Given the description of an element on the screen output the (x, y) to click on. 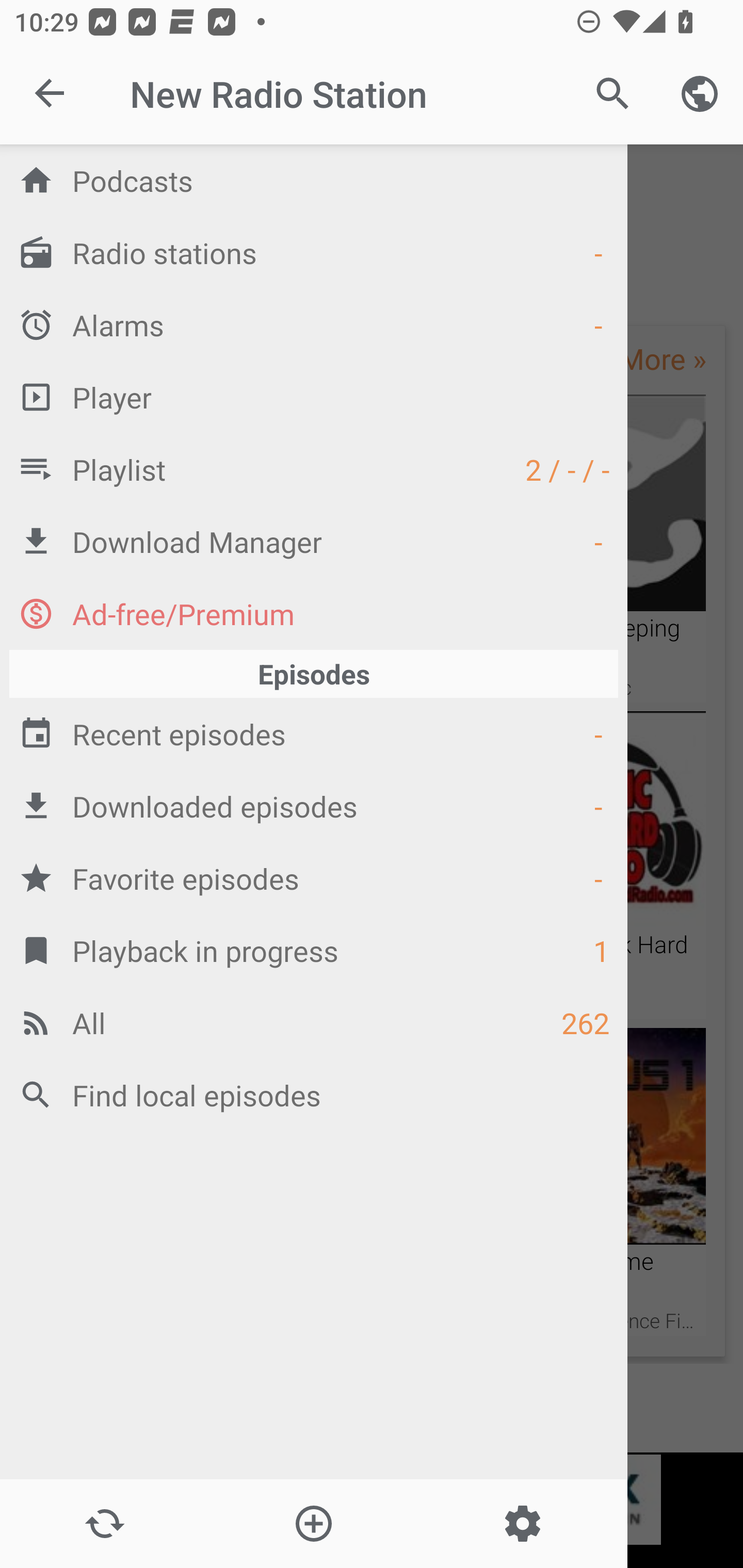
Close navigation sidebar (50, 93)
Search (612, 93)
Podcast languages (699, 93)
Podcasts (313, 180)
Radio stations  -  (313, 252)
Alarms  -  (313, 324)
Player (313, 396)
Playlist 2 / - / - (313, 468)
Download Manager  -  (313, 540)
Ad-free/Premium (313, 613)
Recent episodes  -  (313, 733)
Downloaded episodes  -  (313, 805)
Favorite episodes  -  (313, 878)
Playback in progress 1 (313, 950)
All 262 (313, 1022)
Find local episodes (313, 1094)
Update (104, 1523)
Add new Podcast (312, 1523)
Settings (522, 1523)
